Given the description of an element on the screen output the (x, y) to click on. 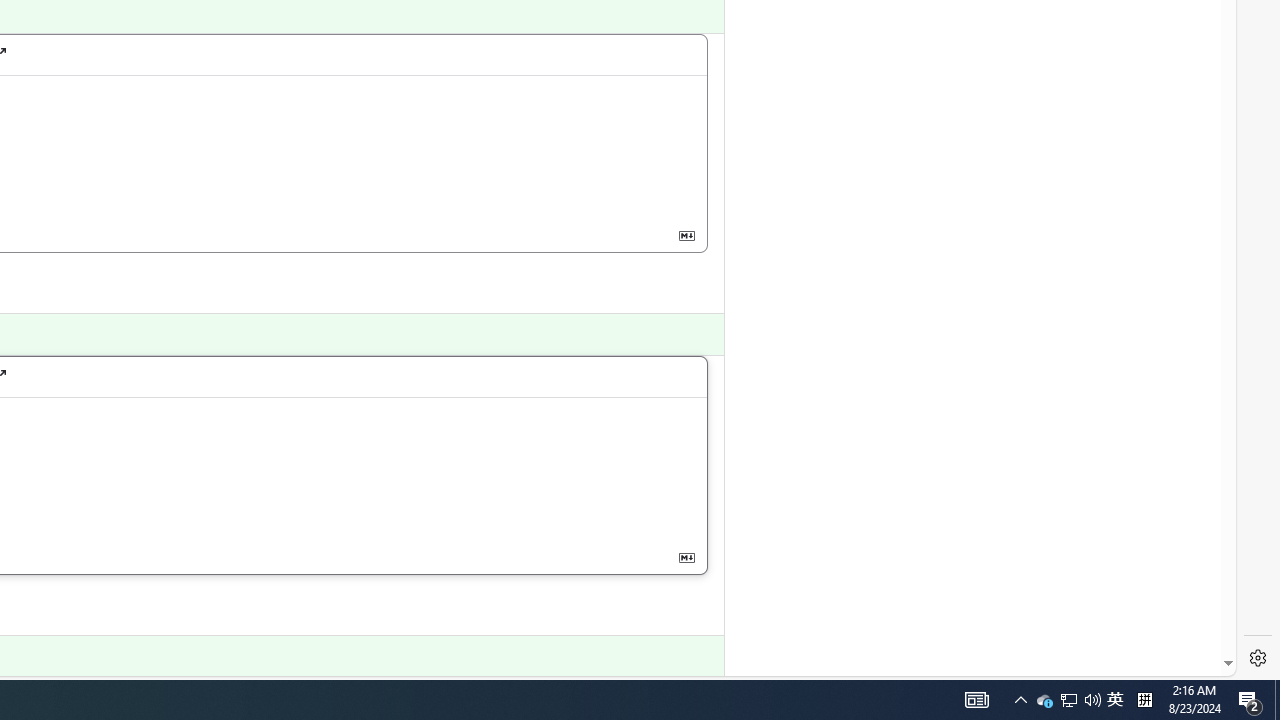
Class: div-dropzone-icon s24 (97, 470)
Class: s16 gl-icon gl-button-icon  (686, 556)
